Given the description of an element on the screen output the (x, y) to click on. 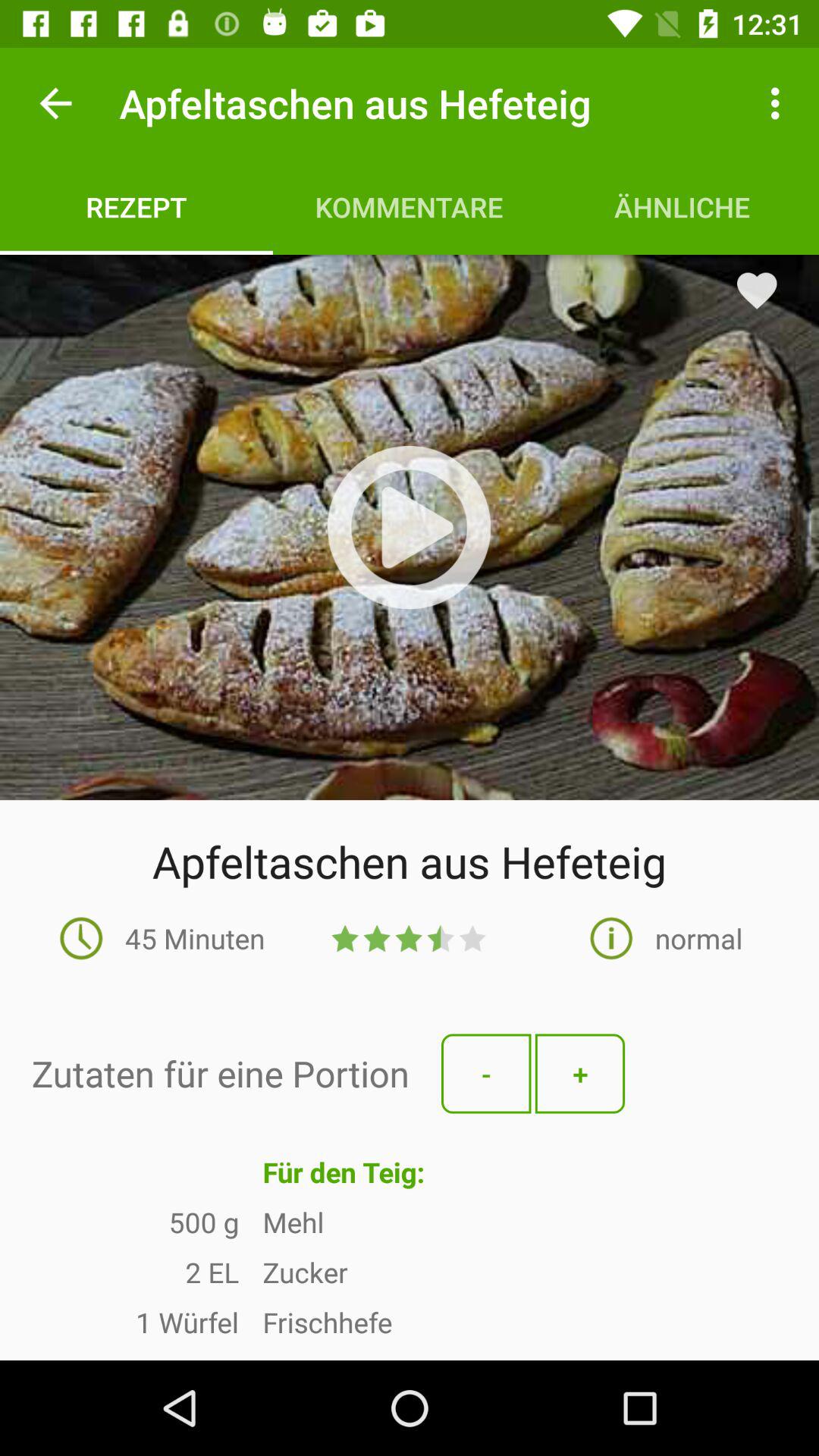
play video (409, 527)
